Given the description of an element on the screen output the (x, y) to click on. 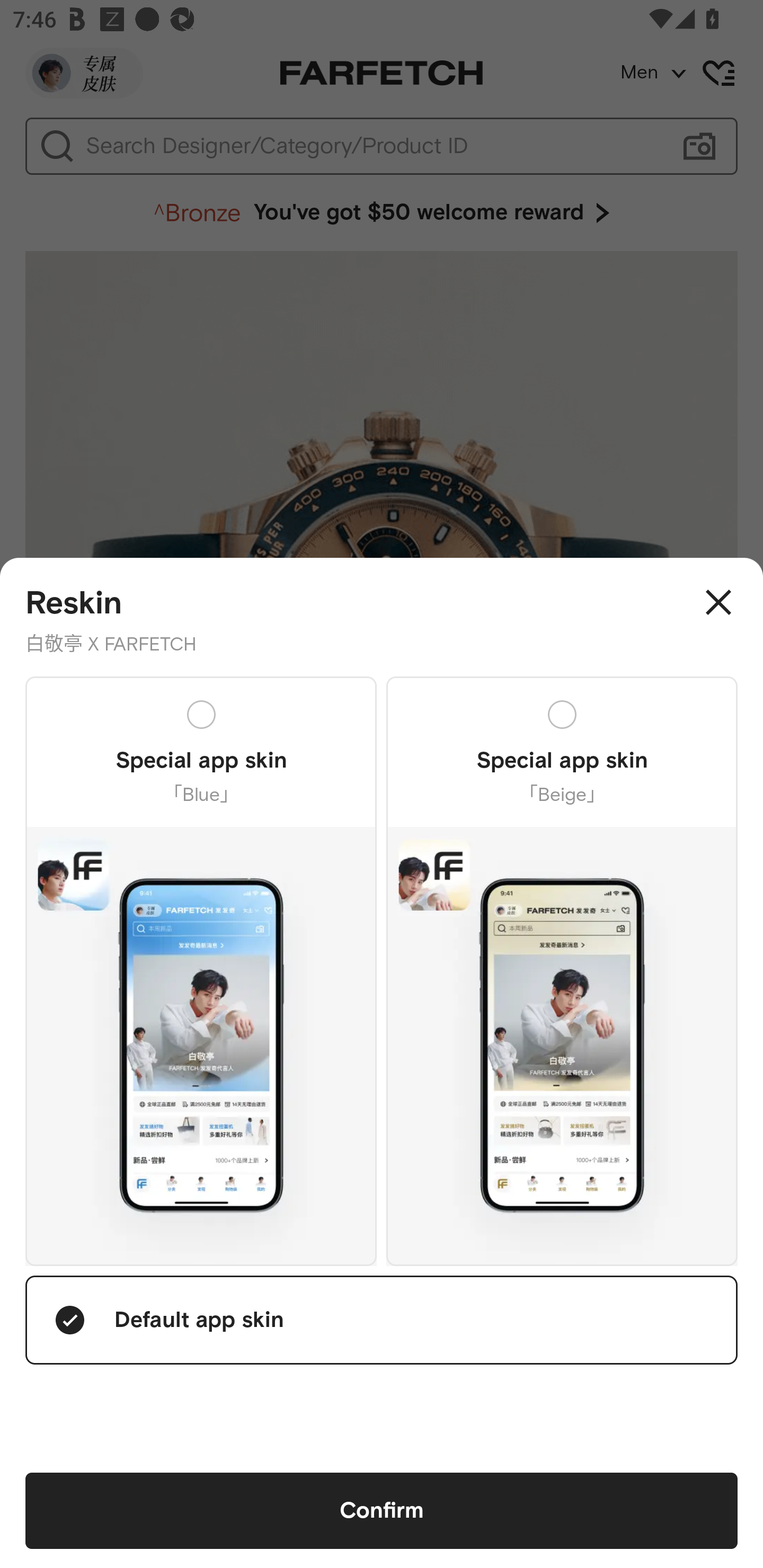
Special app skin 「Blue」 (200, 970)
Special app skin 「Beige」 (561, 970)
Default app skin (381, 1320)
Confirm (381, 1510)
